Given the description of an element on the screen output the (x, y) to click on. 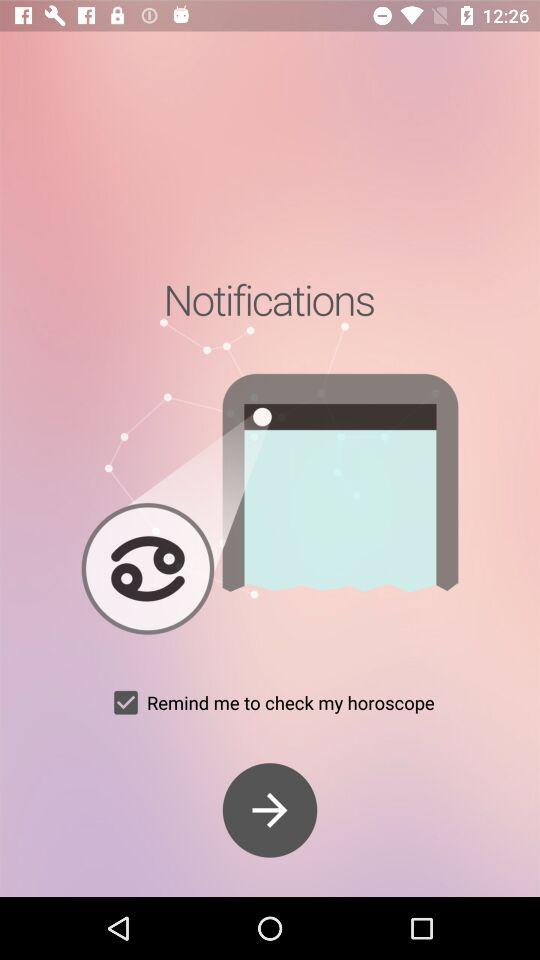
scroll until the remind me to (269, 702)
